Given the description of an element on the screen output the (x, y) to click on. 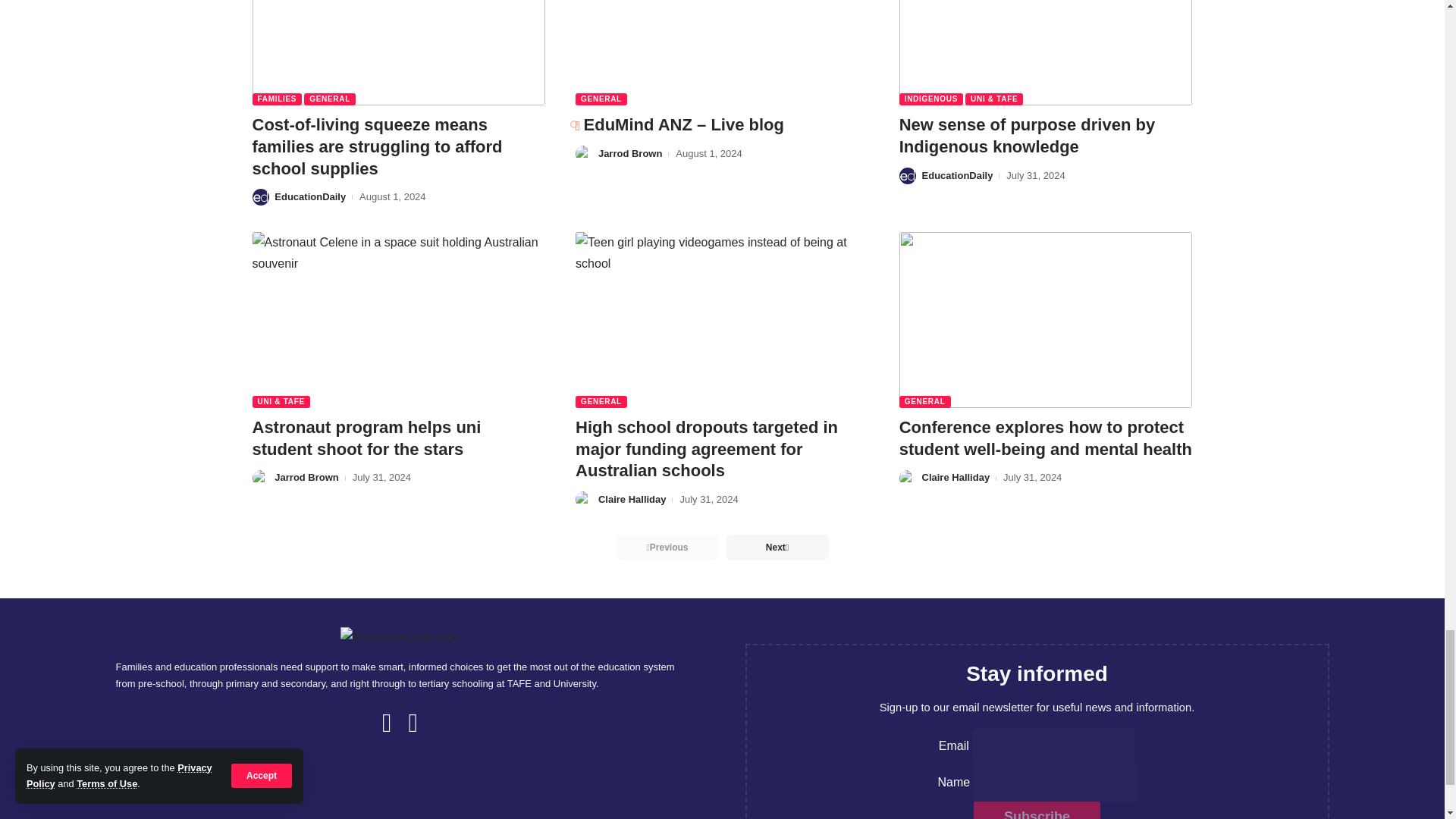
Subscribe (1037, 810)
